Given the description of an element on the screen output the (x, y) to click on. 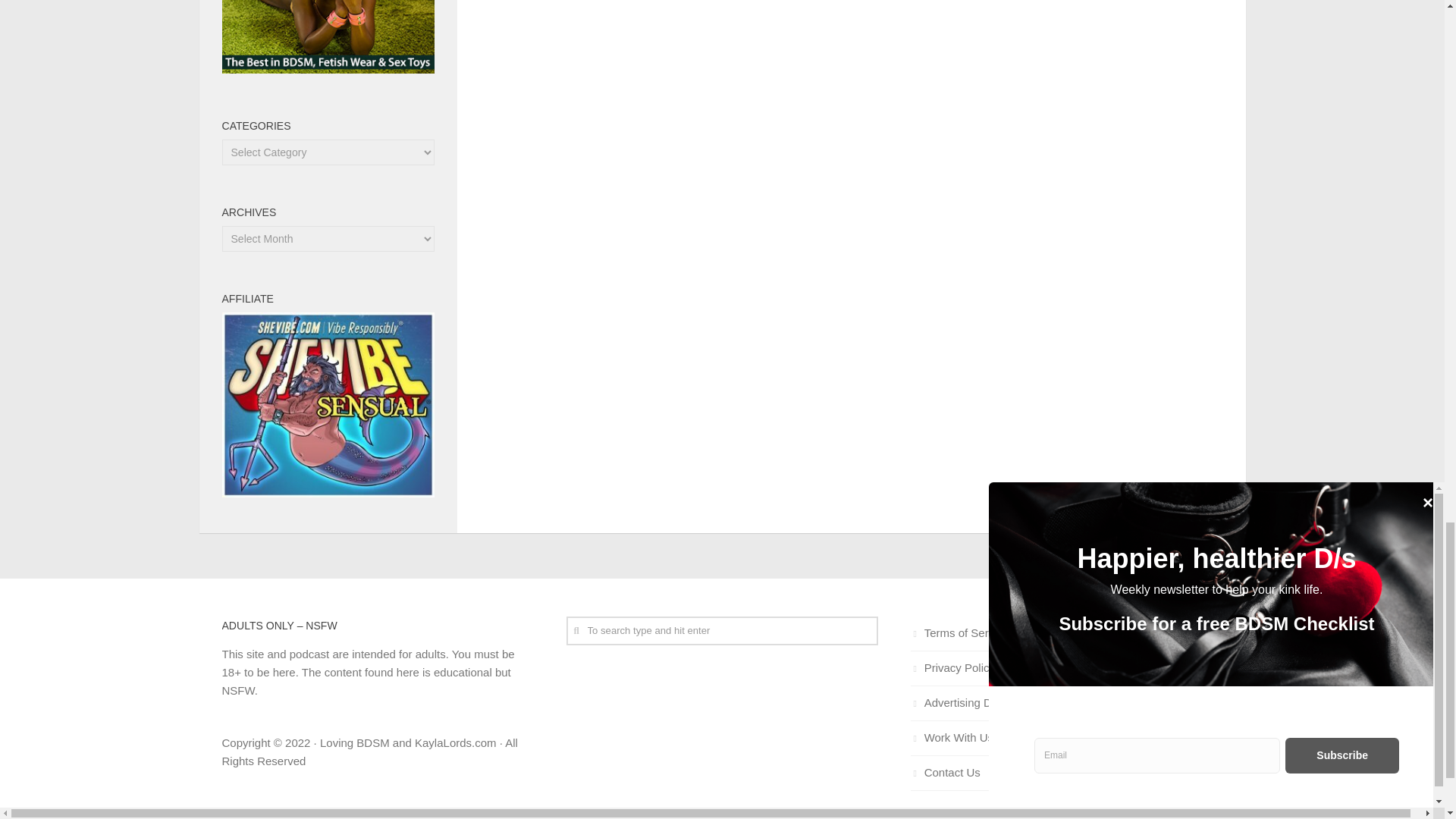
To search type and hit enter (722, 630)
To search type and hit enter (722, 630)
